Given the description of an element on the screen output the (x, y) to click on. 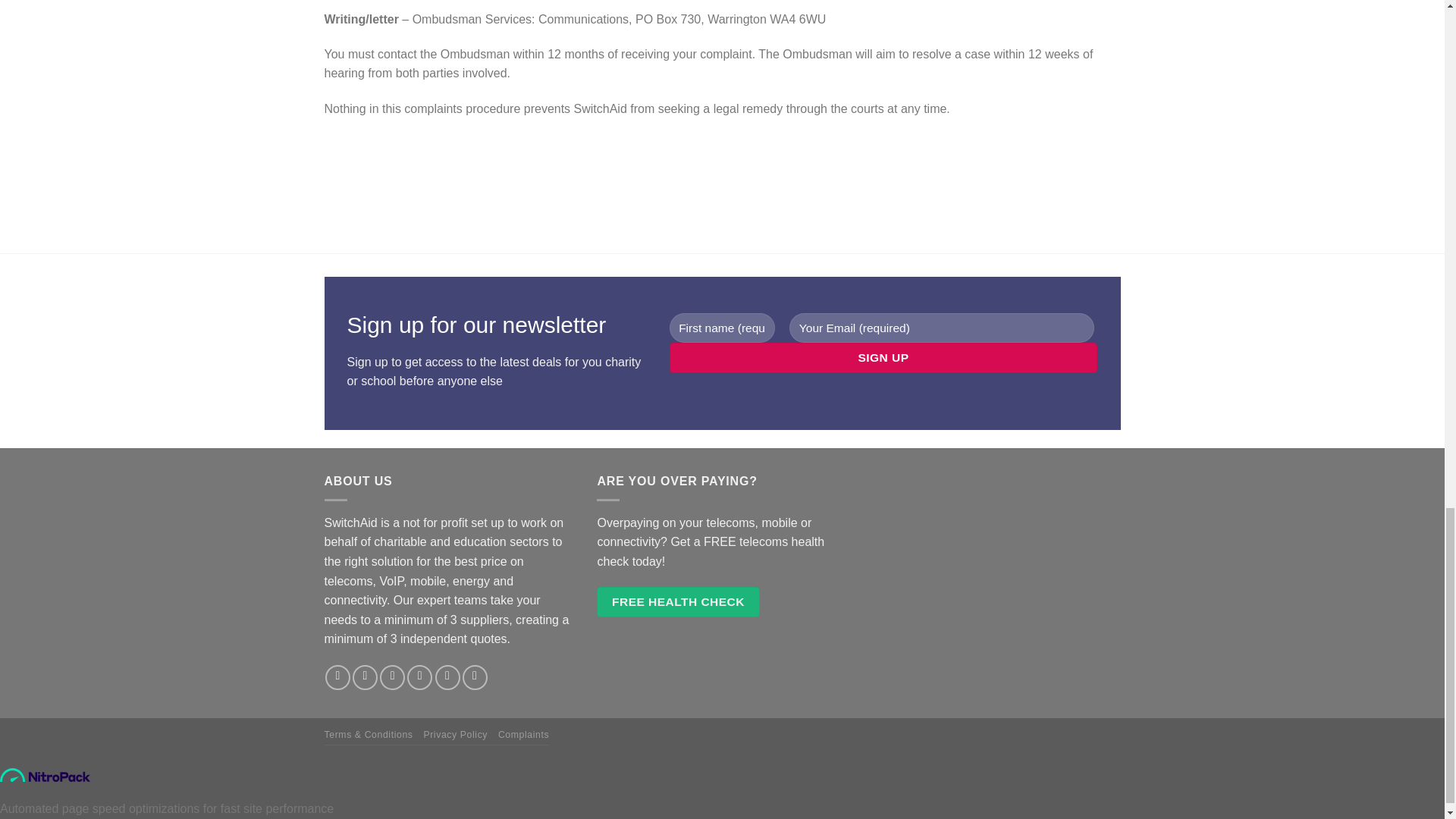
Call us (447, 677)
Follow on Twitter (392, 677)
Sign Up (882, 357)
FREE HEALTH CHECK (677, 601)
Send us an email (419, 677)
Follow on LinkedIn (475, 677)
Sign Up (882, 357)
Privacy Policy (455, 734)
Complaints (522, 734)
Follow on Instagram (364, 677)
Follow on Facebook (337, 677)
